Given the description of an element on the screen output the (x, y) to click on. 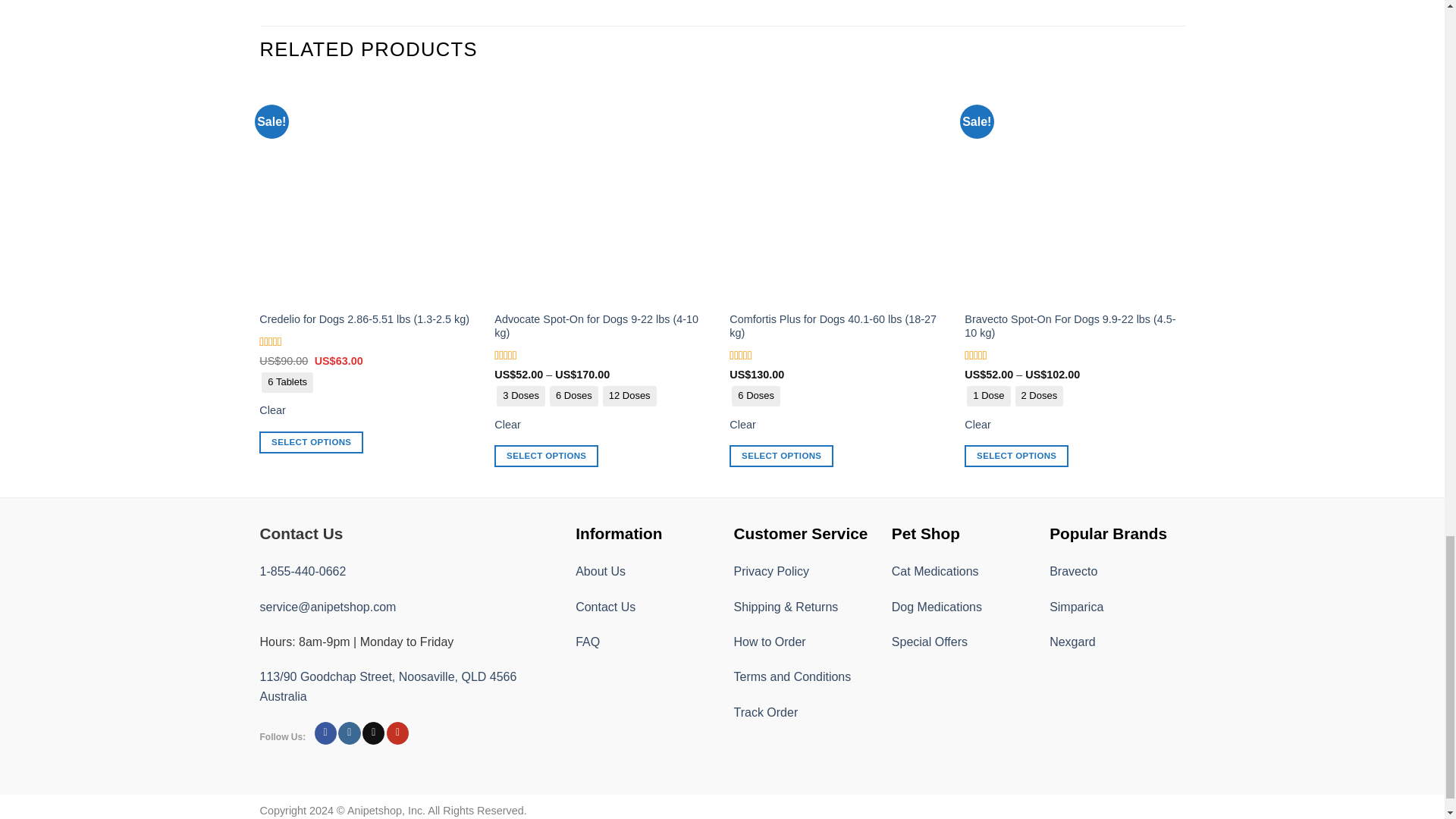
3 Doses (520, 395)
6 Tablets (287, 382)
6 Doses (573, 395)
12 Doses (630, 395)
